Given the description of an element on the screen output the (x, y) to click on. 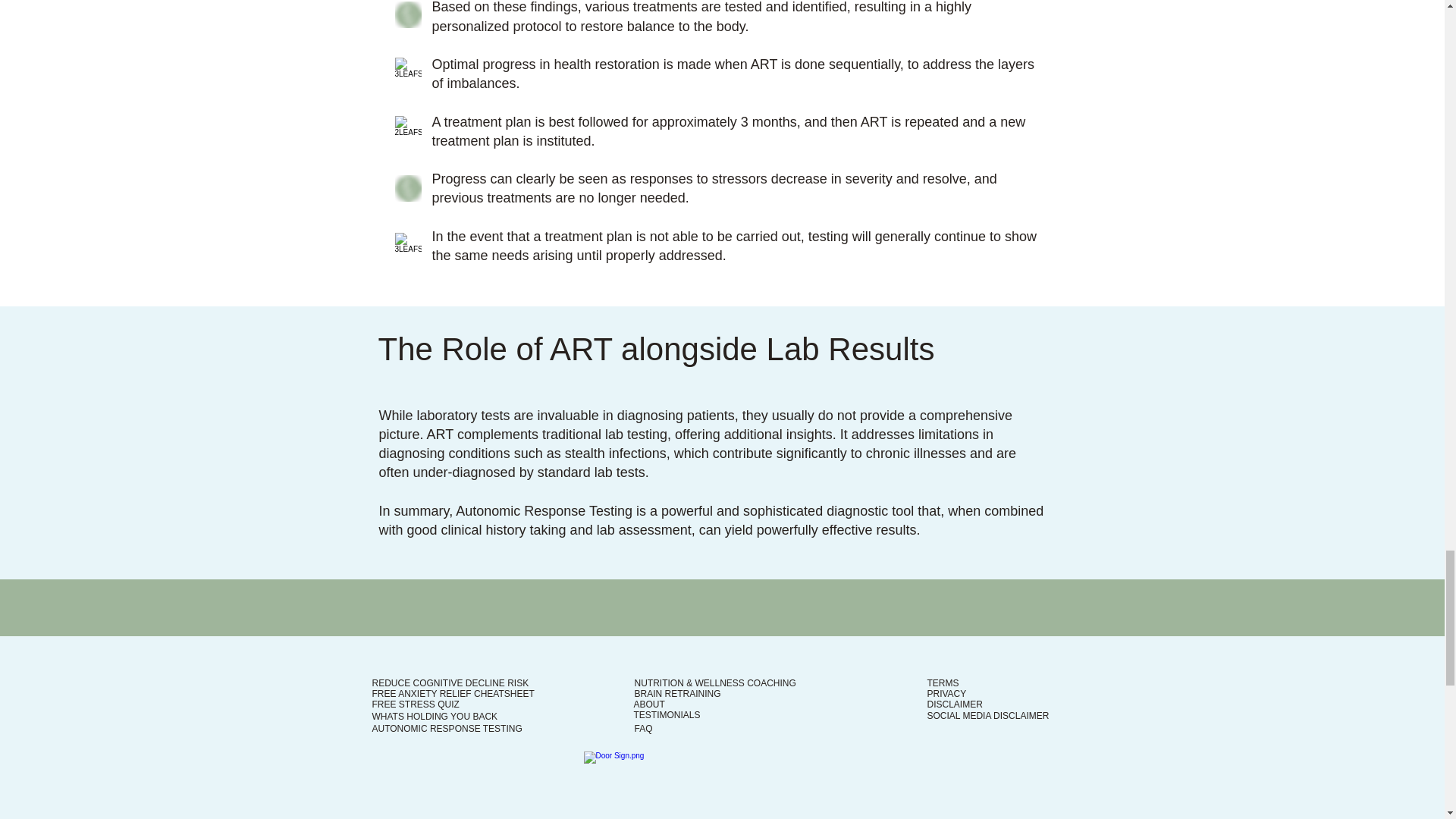
AUTONOMIC RESPONSE TESTING (446, 728)
SOCIAL MEDIA DISCLAIMER (987, 715)
TERMS (942, 683)
REDUCE COGNITIVE DECLINE RISK (449, 683)
BRAIN RETRAINING (676, 693)
FREE ANXIETY RELIEF CHEATSHEET (452, 693)
PRIVACY (946, 693)
TESTIMONIALS (666, 715)
FAQ (642, 728)
FREE STRESS QUIZ (414, 704)
ABOUT (649, 704)
WHATS HOLDING YOU BACK (434, 716)
DISCLAIMER (953, 704)
